Given the description of an element on the screen output the (x, y) to click on. 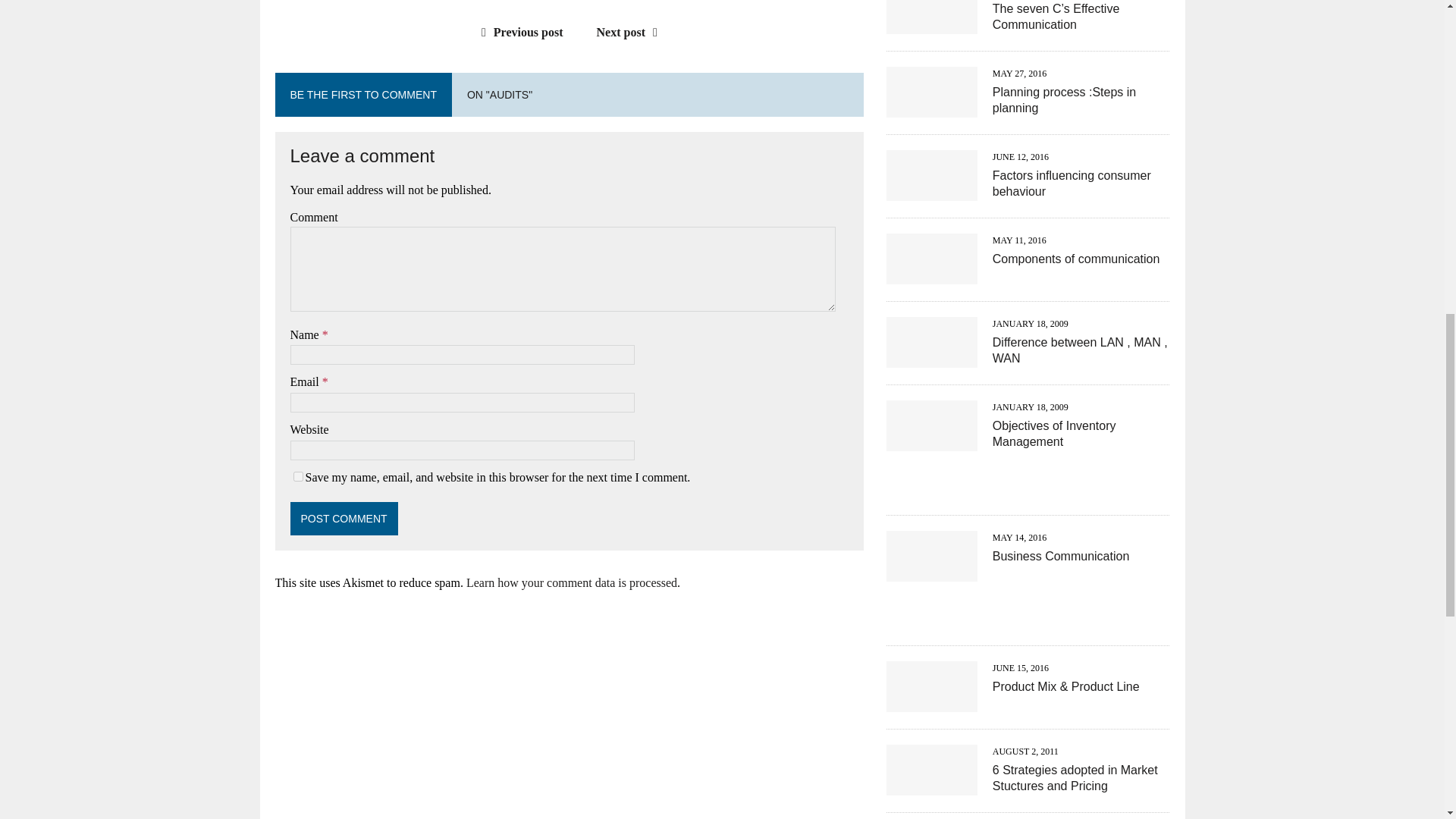
Previous post (518, 31)
Next post (630, 31)
Learn how your comment data is processed (571, 582)
yes (297, 476)
Post Comment (343, 518)
Post Comment (343, 518)
